Given the description of an element on the screen output the (x, y) to click on. 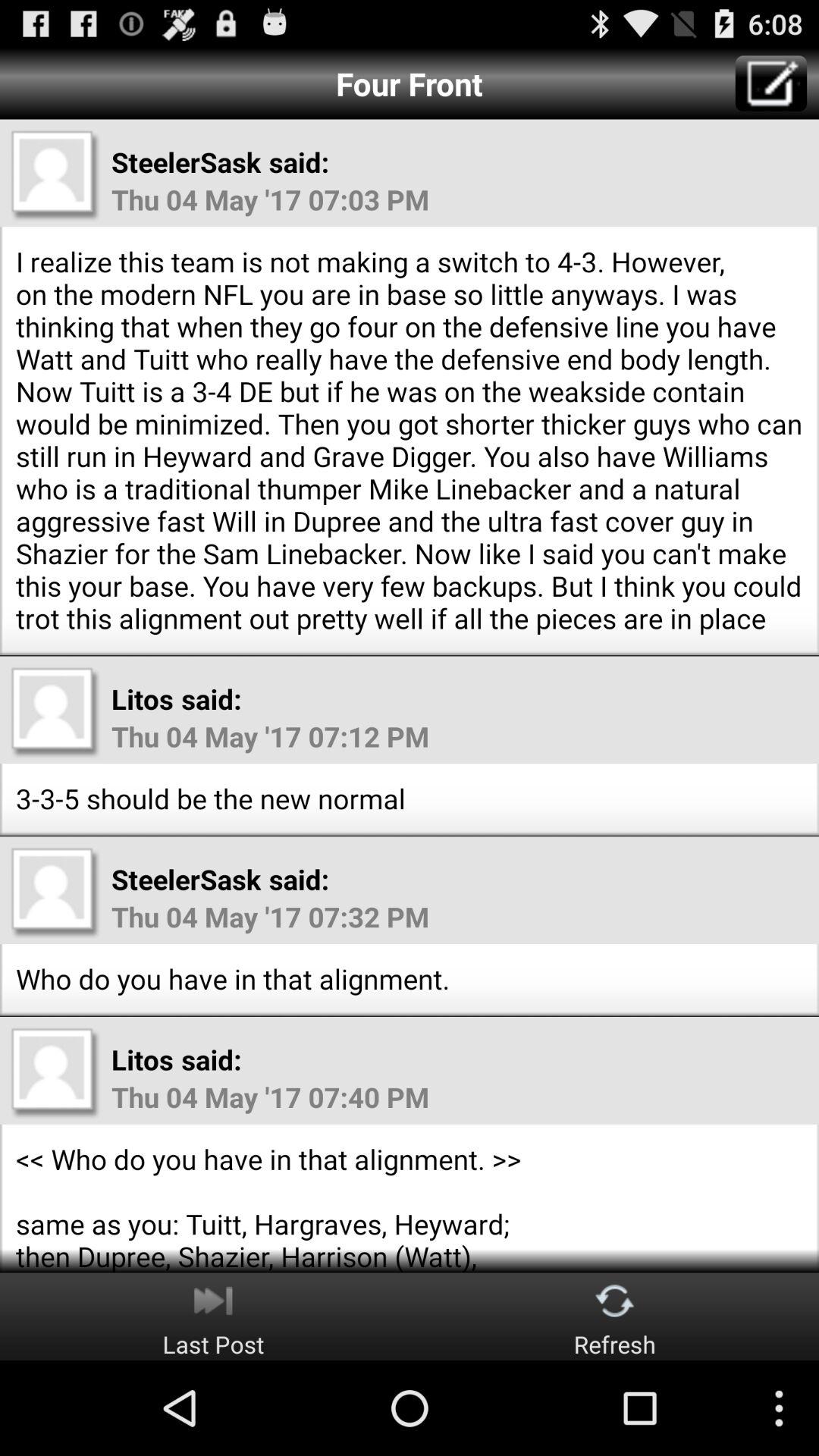
user info (55, 711)
